Given the description of an element on the screen output the (x, y) to click on. 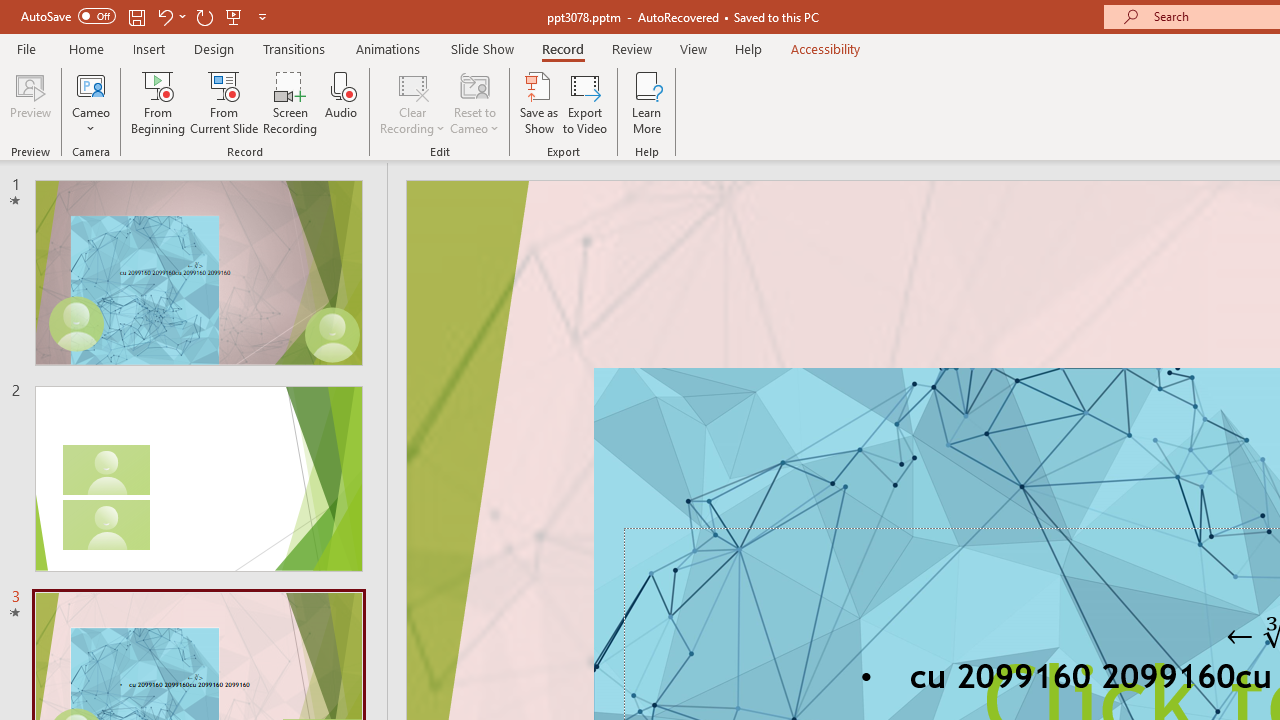
From Current Slide... (224, 102)
Clear Recording (412, 102)
